Given the description of an element on the screen output the (x, y) to click on. 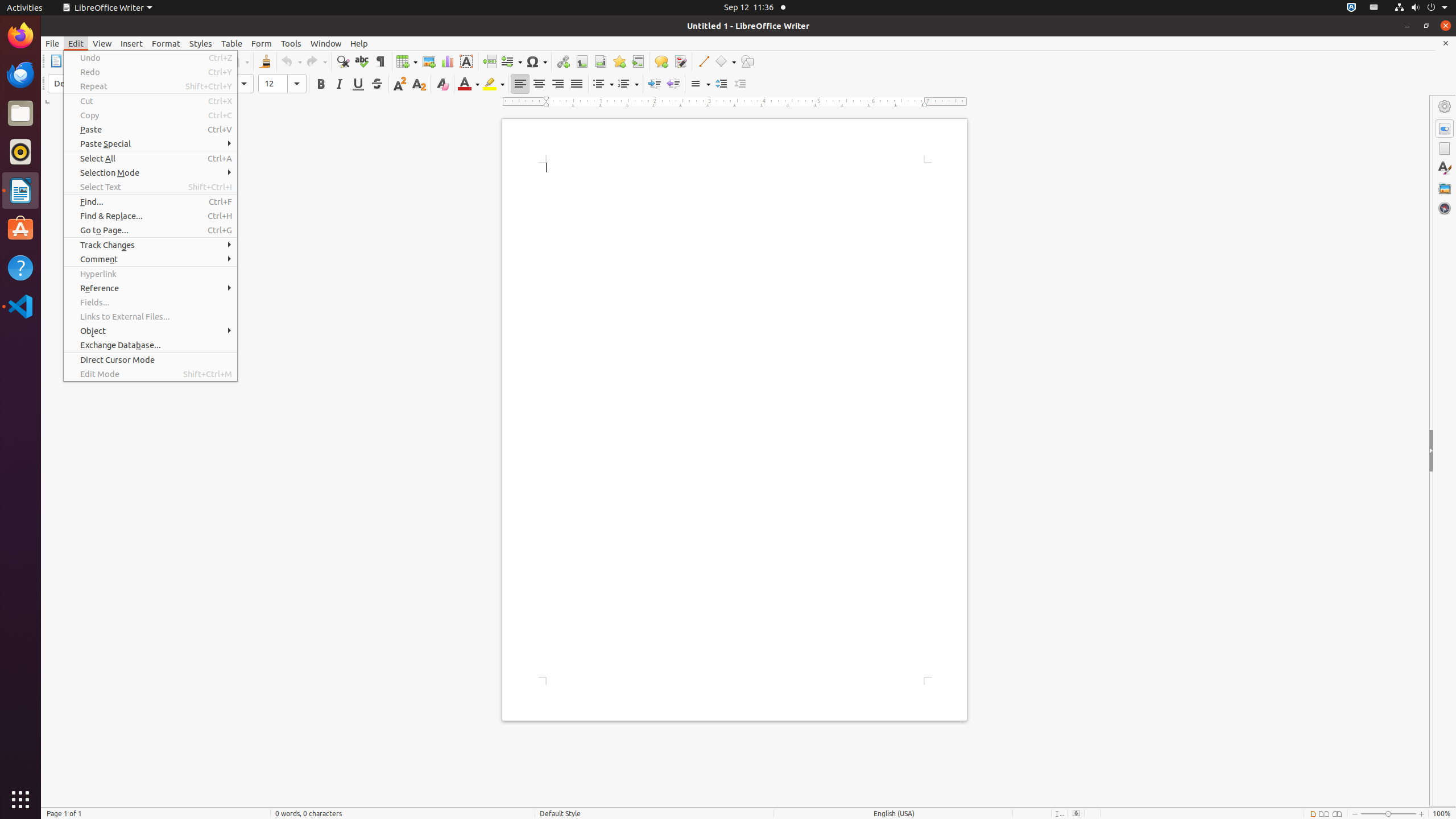
org.kde.StatusNotifierItem-14077-1 Element type: menu (1373, 7)
Copy Element type: menu-item (150, 115)
Track Changes Element type: menu (150, 244)
Form Element type: menu (261, 43)
Insert Element type: menu (131, 43)
